Given the description of an element on the screen output the (x, y) to click on. 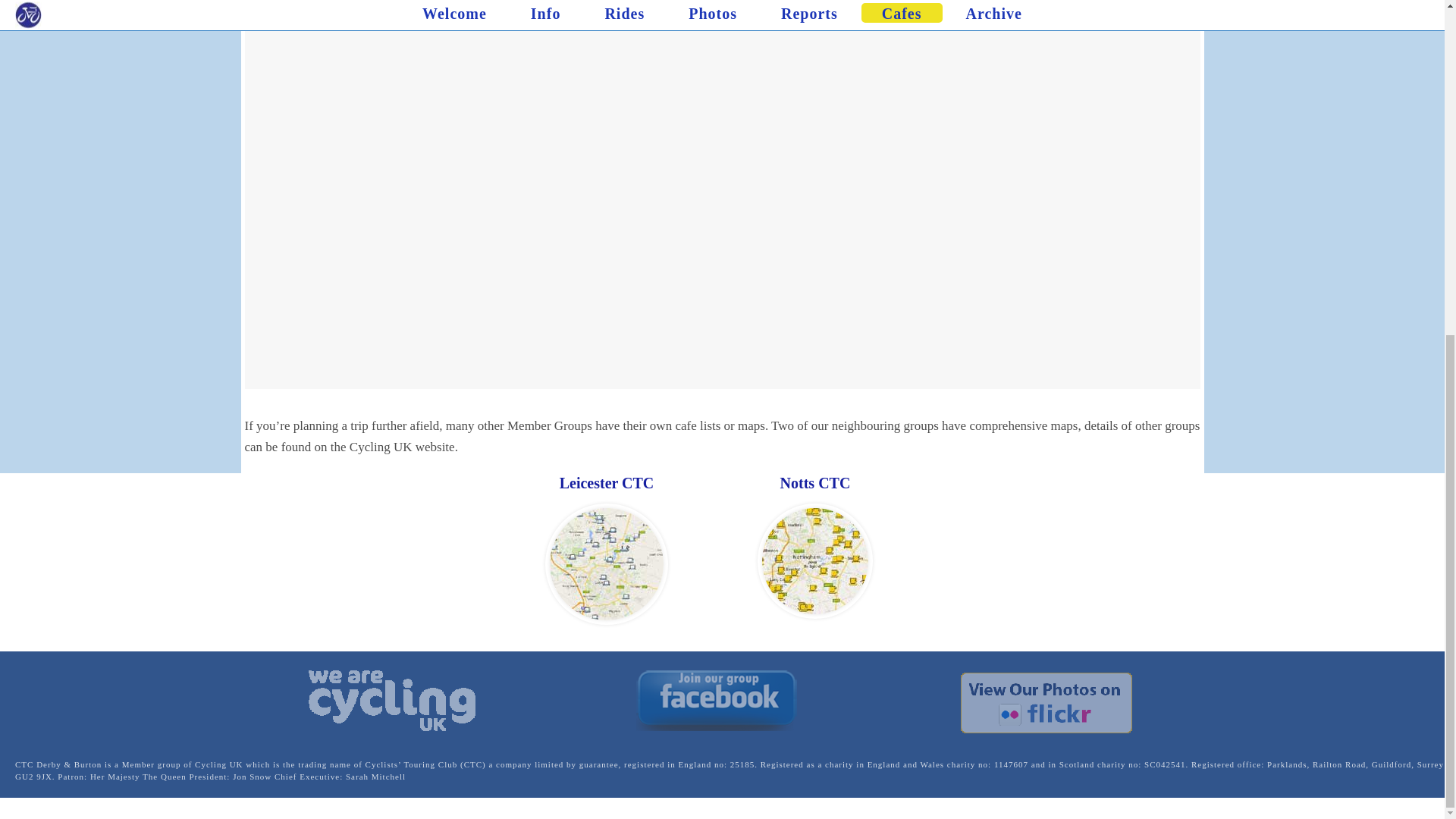
leicester-cafes (606, 563)
Follow Us on  (1046, 702)
Follow Us on Cycling UK (392, 700)
Follow Us on Facebook (716, 700)
